Given the description of an element on the screen output the (x, y) to click on. 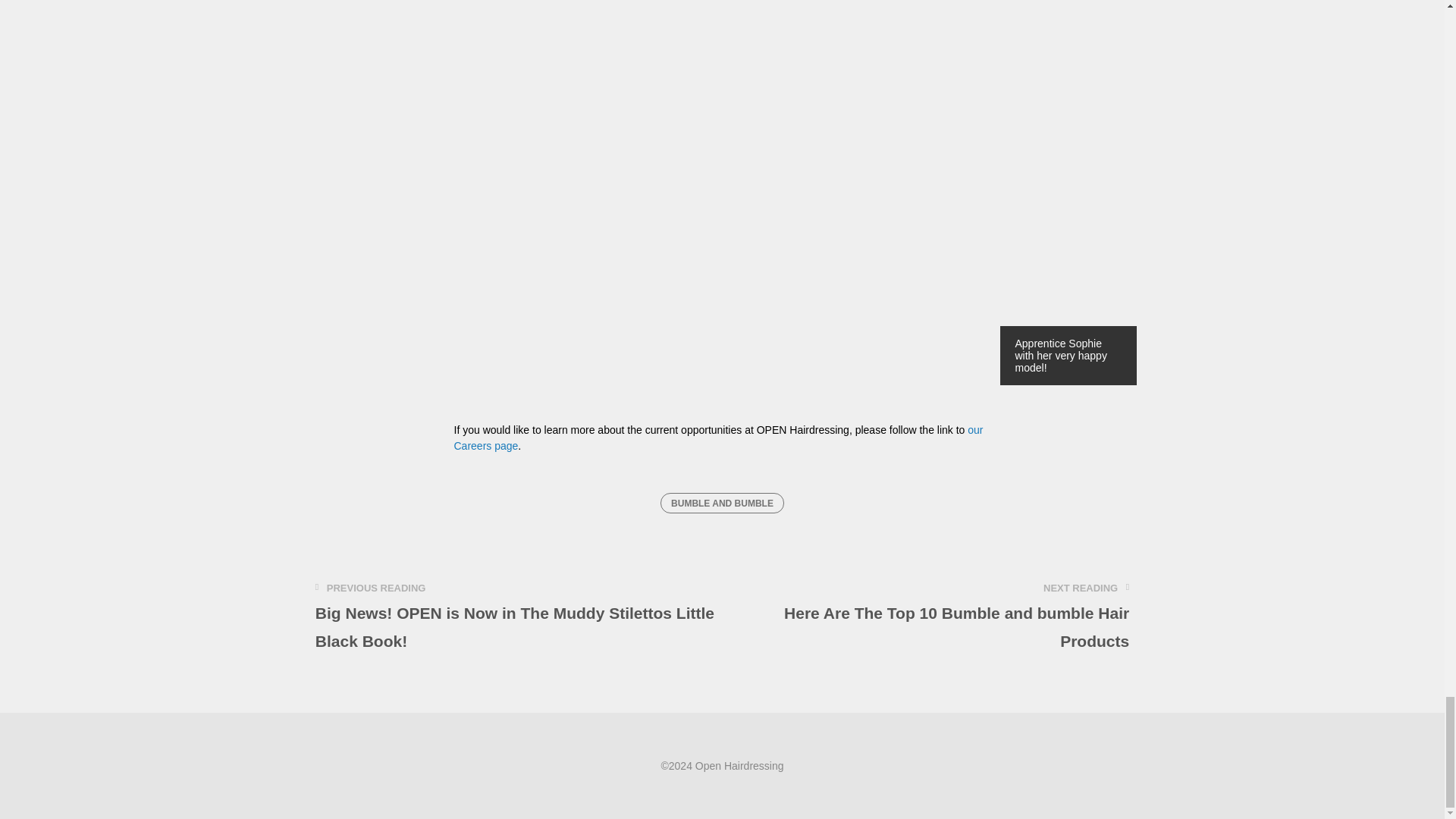
our Careers page (717, 438)
BUMBLE AND BUMBLE (722, 502)
